Given the description of an element on the screen output the (x, y) to click on. 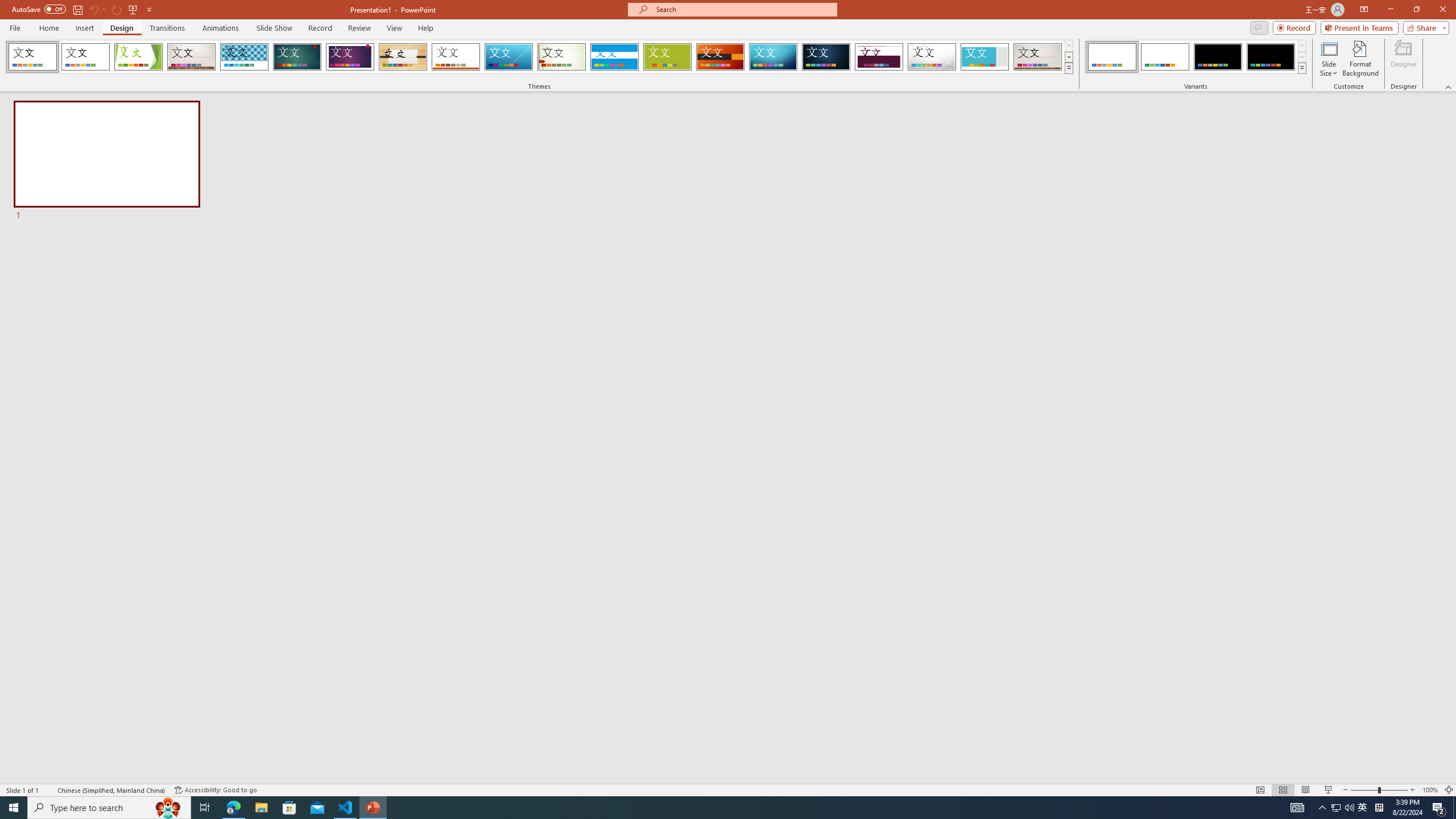
Gallery Loading Preview... (1037, 56)
Office Theme Variant 4 (1270, 56)
Integral Loading Preview... (244, 56)
Office Theme Variant 3 (1217, 56)
Organic Loading Preview... (403, 56)
Microsoft search (742, 9)
Dividend Loading Preview... (879, 56)
